Given the description of an element on the screen output the (x, y) to click on. 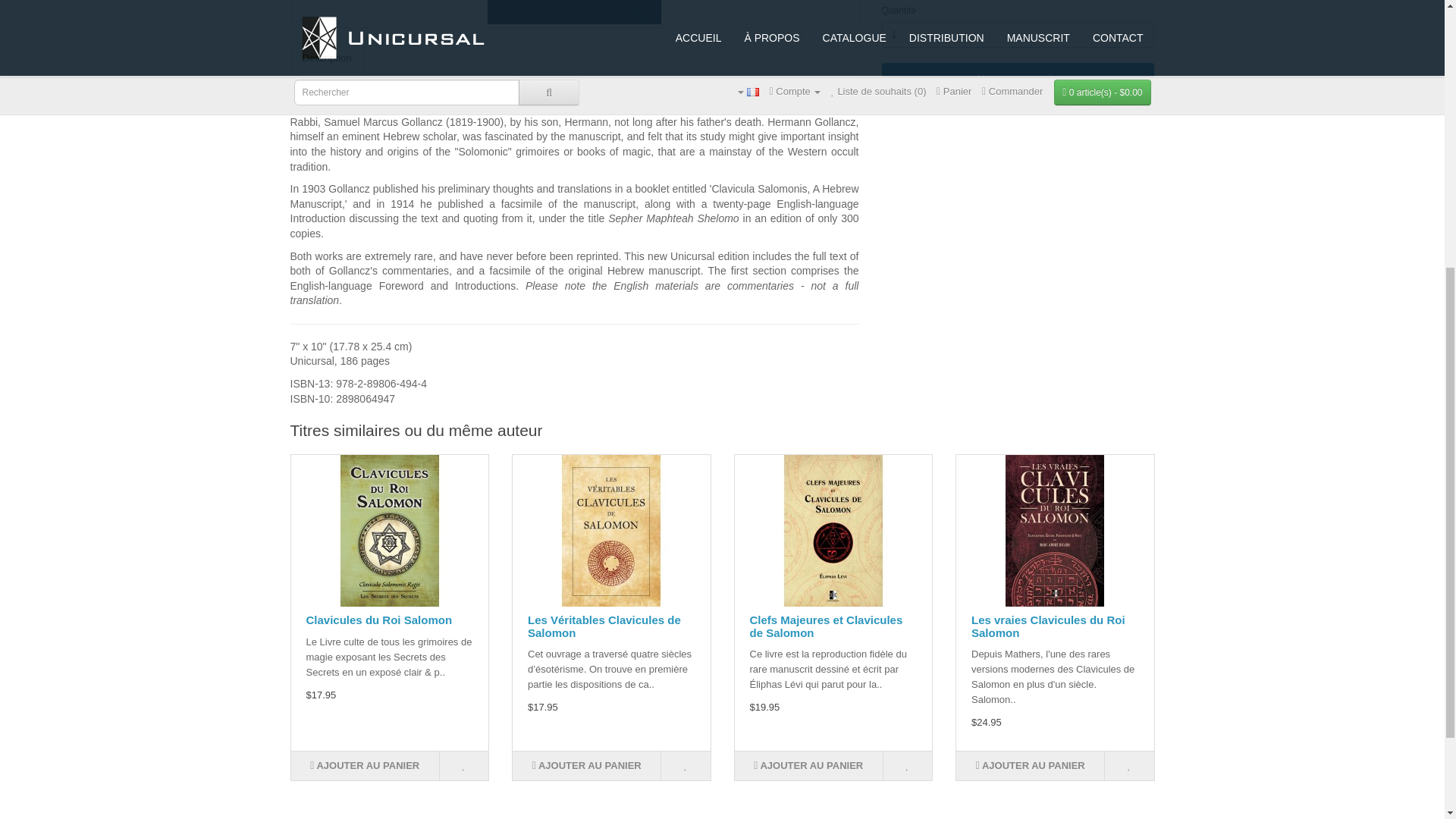
Clavicules du Roi Salomon (378, 619)
Description (325, 58)
AJOUTER AU PANIER (365, 765)
Sepher Maphteah Shelomo (574, 13)
Clefs Majeures et Clavicules de Salomon (832, 530)
Ajouter au panier (1017, 79)
Sepher Maphteah Shelomo (573, 12)
1 (1017, 34)
Les vraies Clavicules du Roi Salomon (1054, 530)
Clavicules du Roi Salomon (389, 530)
